Given the description of an element on the screen output the (x, y) to click on. 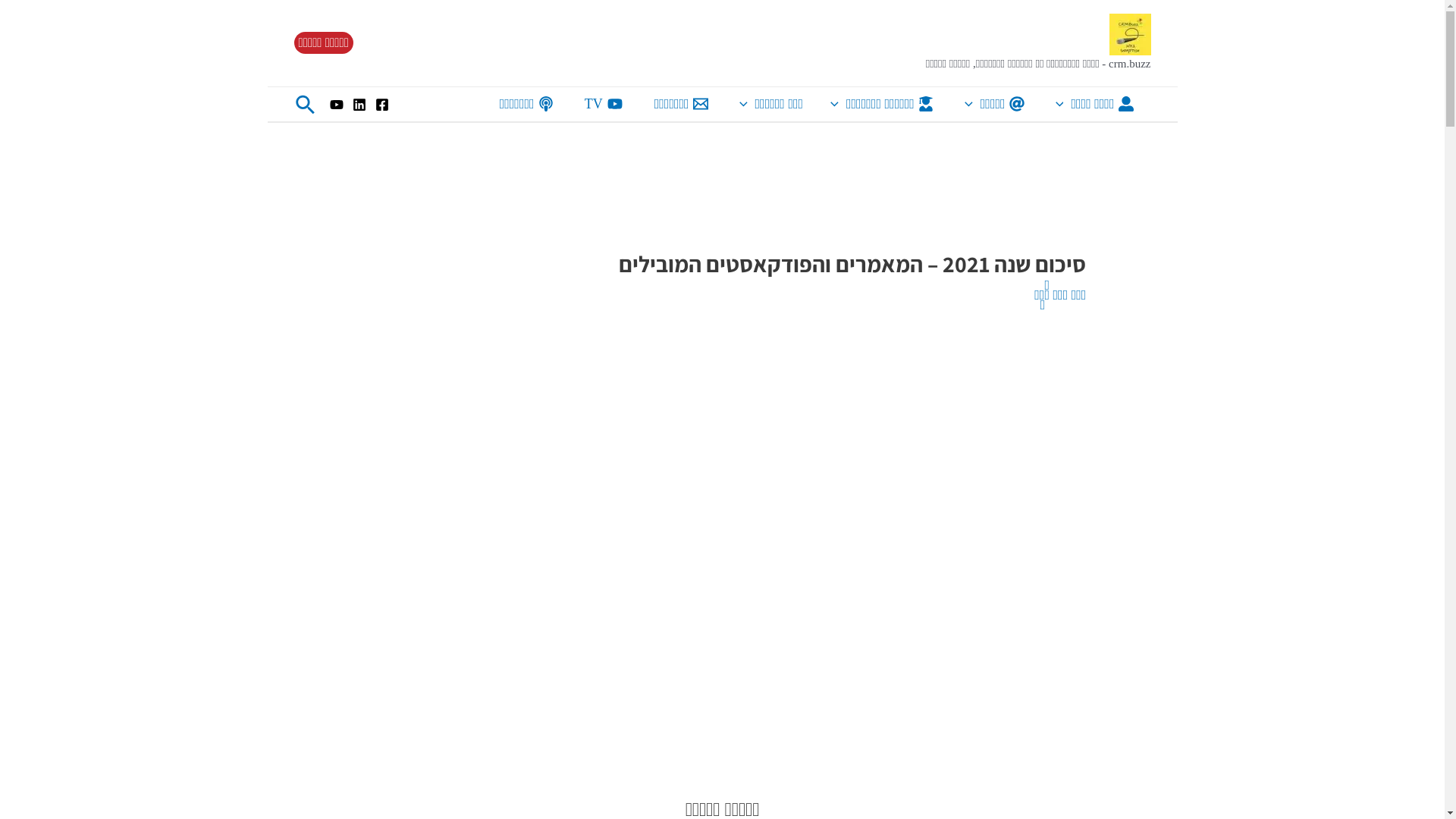
TV Element type: text (605, 103)
